Given the description of an element on the screen output the (x, y) to click on. 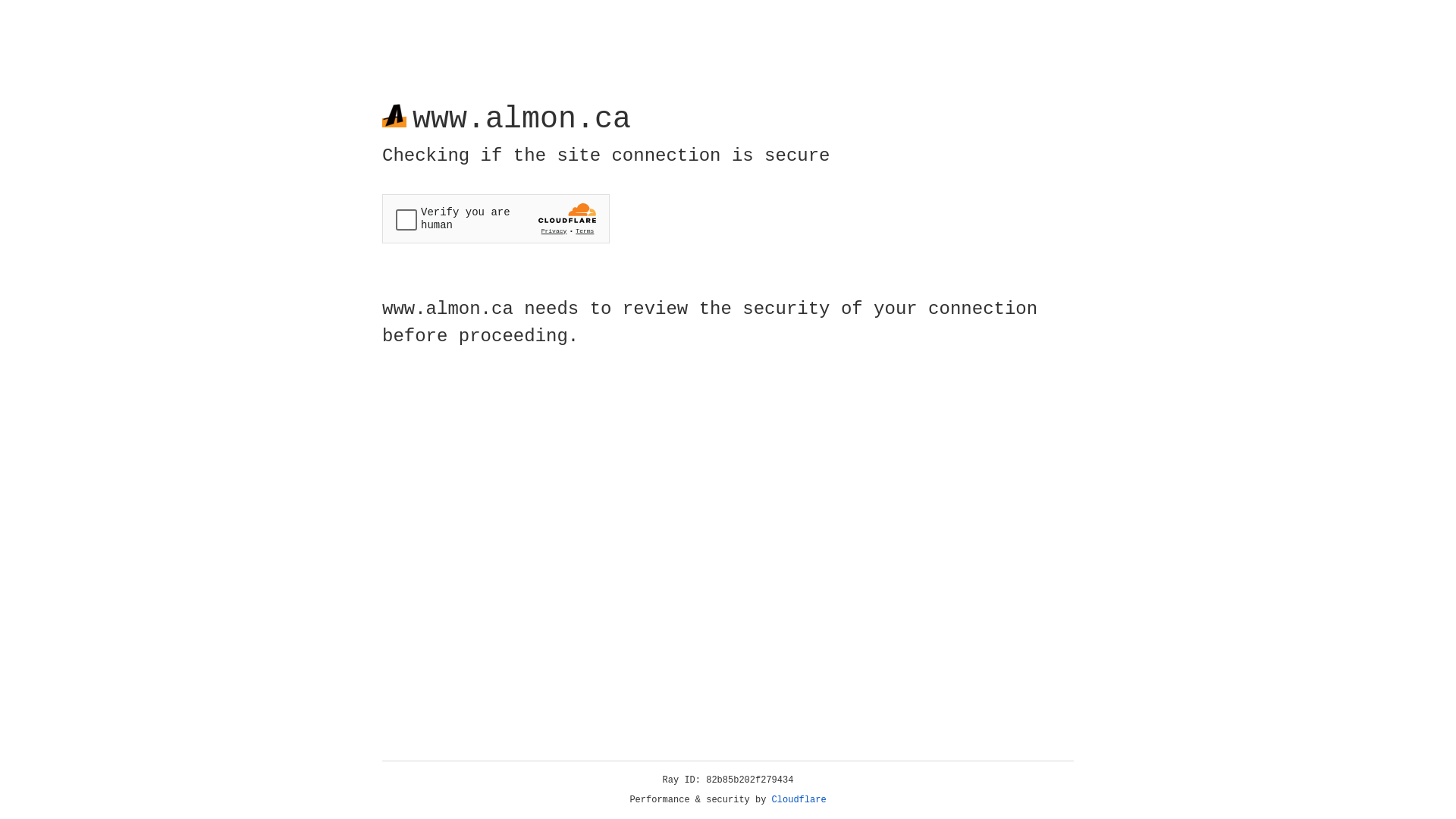
Cloudflare Element type: text (798, 799)
Widget containing a Cloudflare security challenge Element type: hover (495, 218)
